Given the description of an element on the screen output the (x, y) to click on. 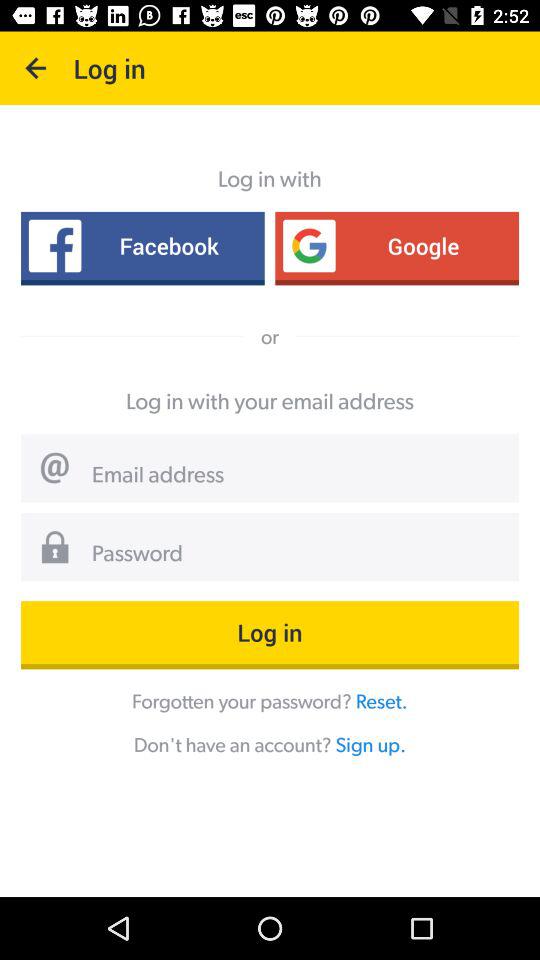
tap the icon below log in with item (397, 245)
